Given the description of an element on the screen output the (x, y) to click on. 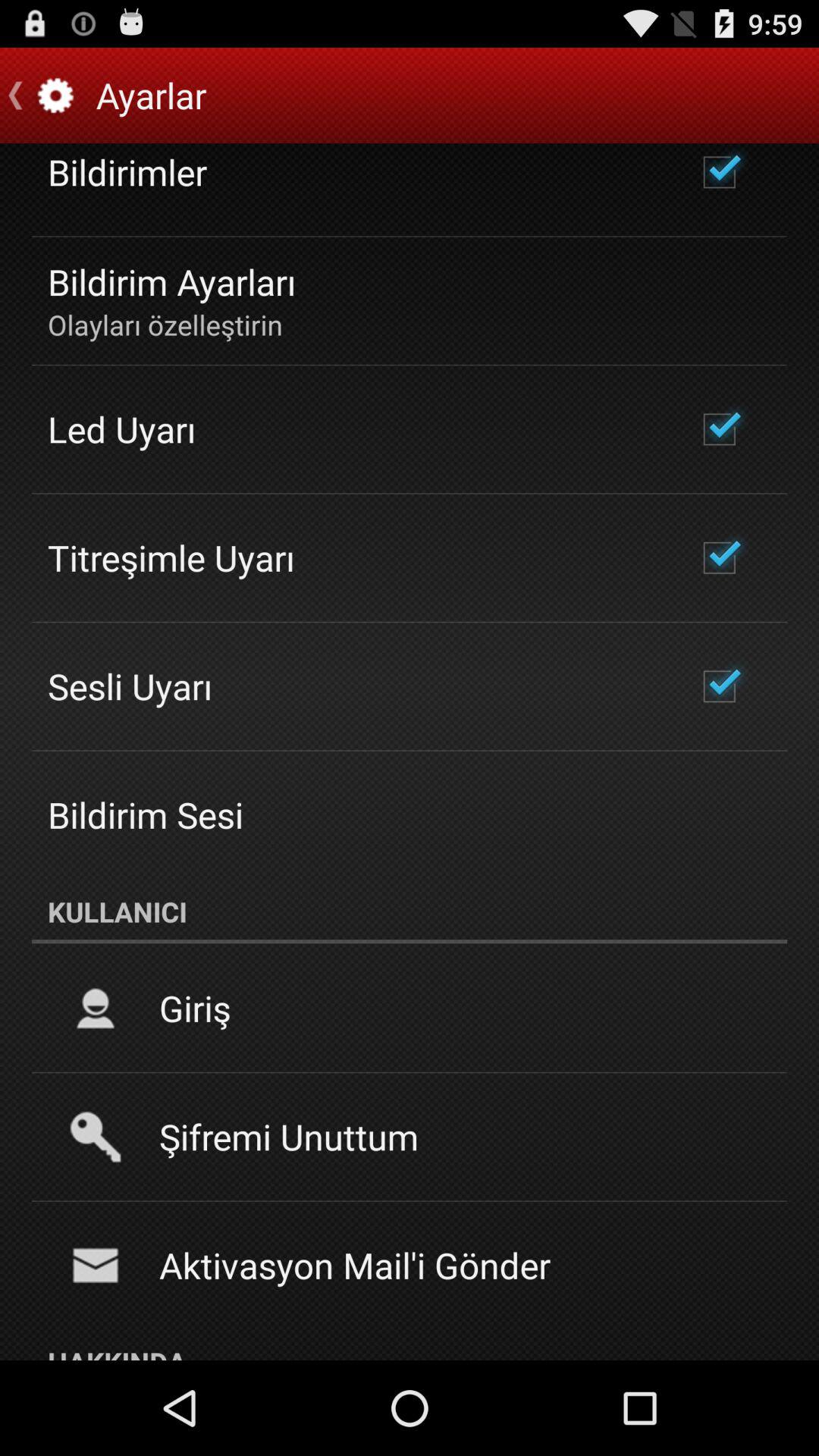
click the icon above bildirim sesi (129, 686)
